Given the description of an element on the screen output the (x, y) to click on. 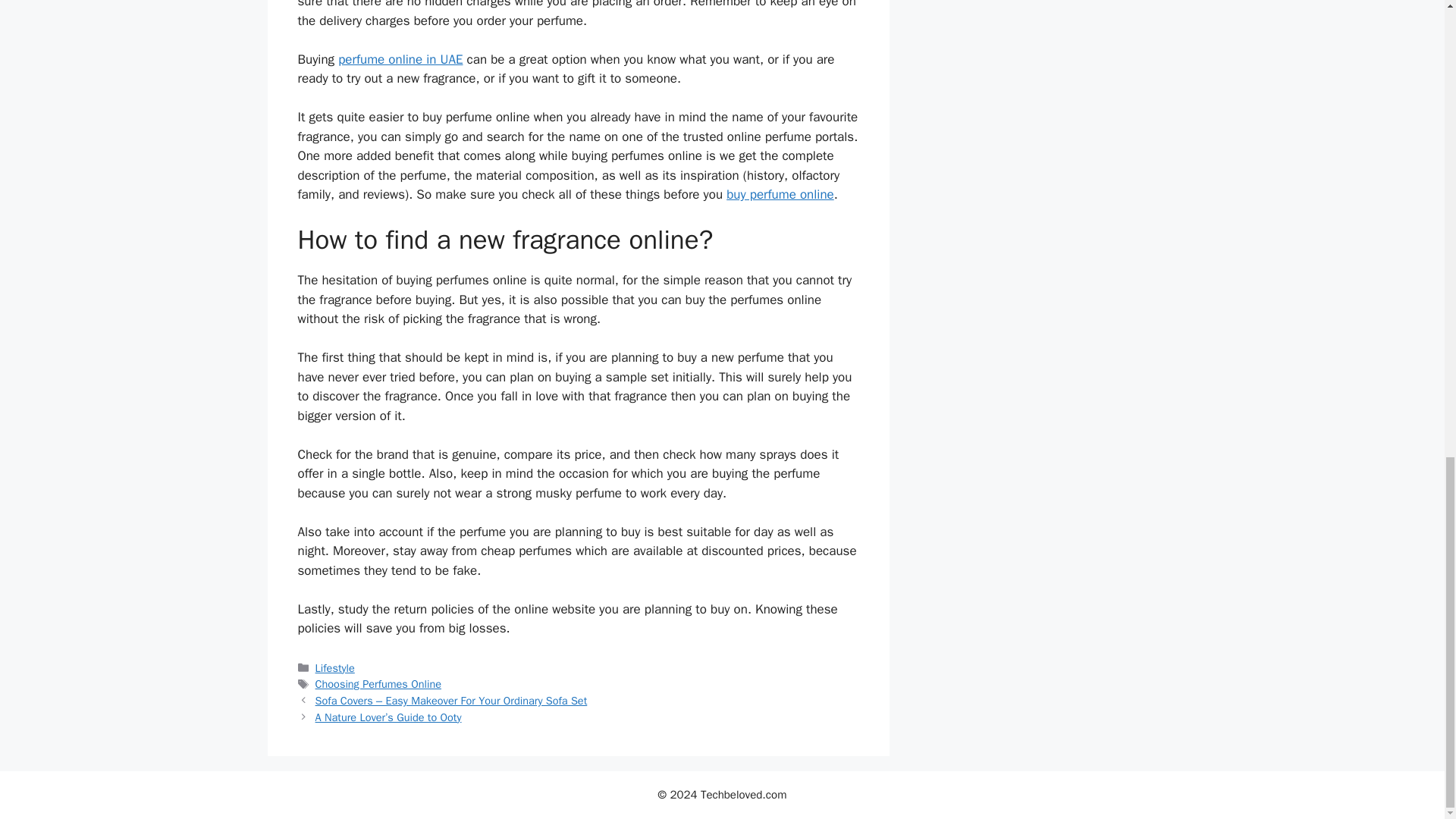
buy perfume online (780, 194)
Lifestyle (335, 667)
perfume online in UAE (400, 59)
Choosing Perfumes Online (378, 684)
Scroll back to top (1406, 498)
